Given the description of an element on the screen output the (x, y) to click on. 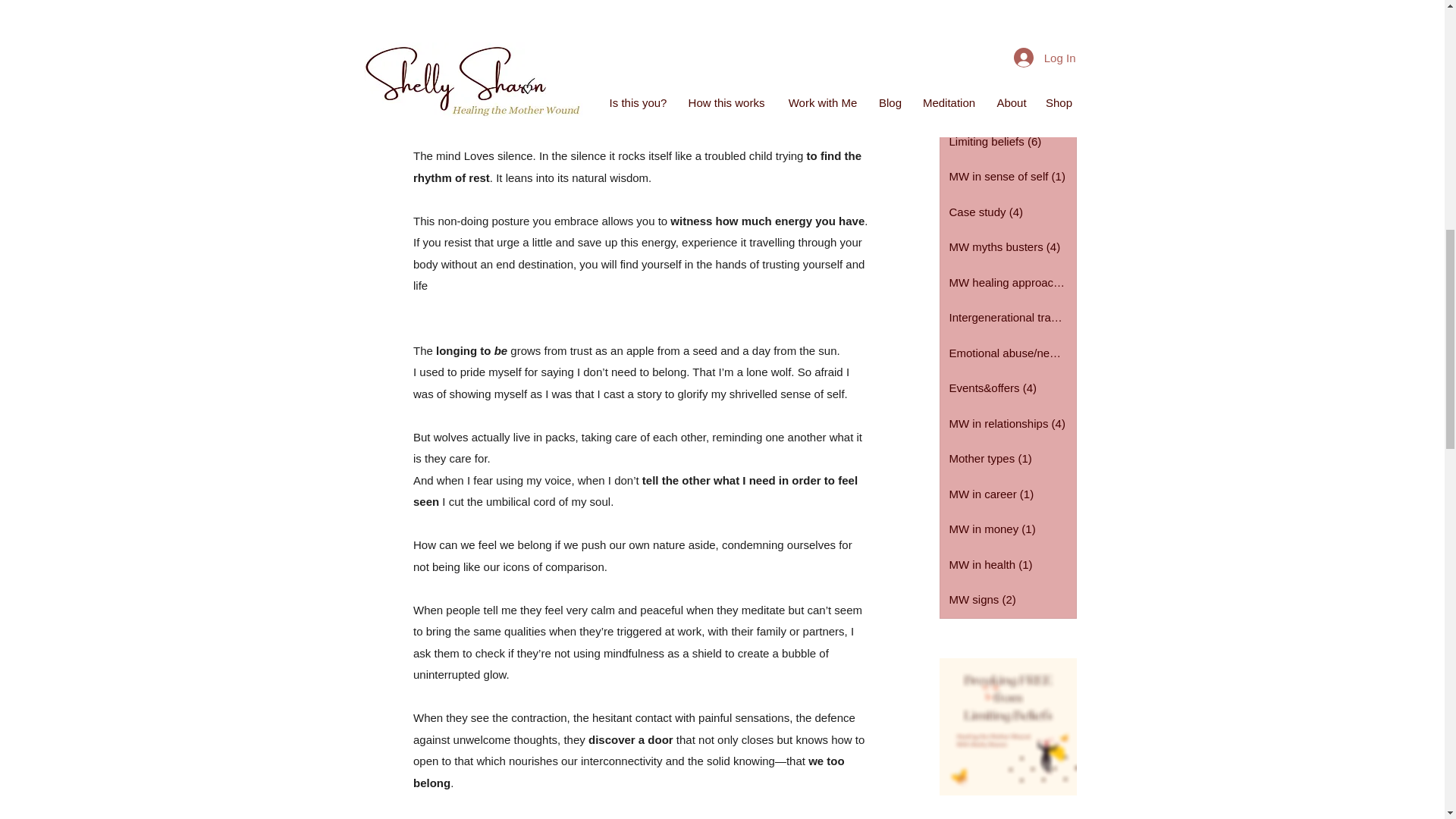
Intergenerational trauma (1007, 317)
